Given the description of an element on the screen output the (x, y) to click on. 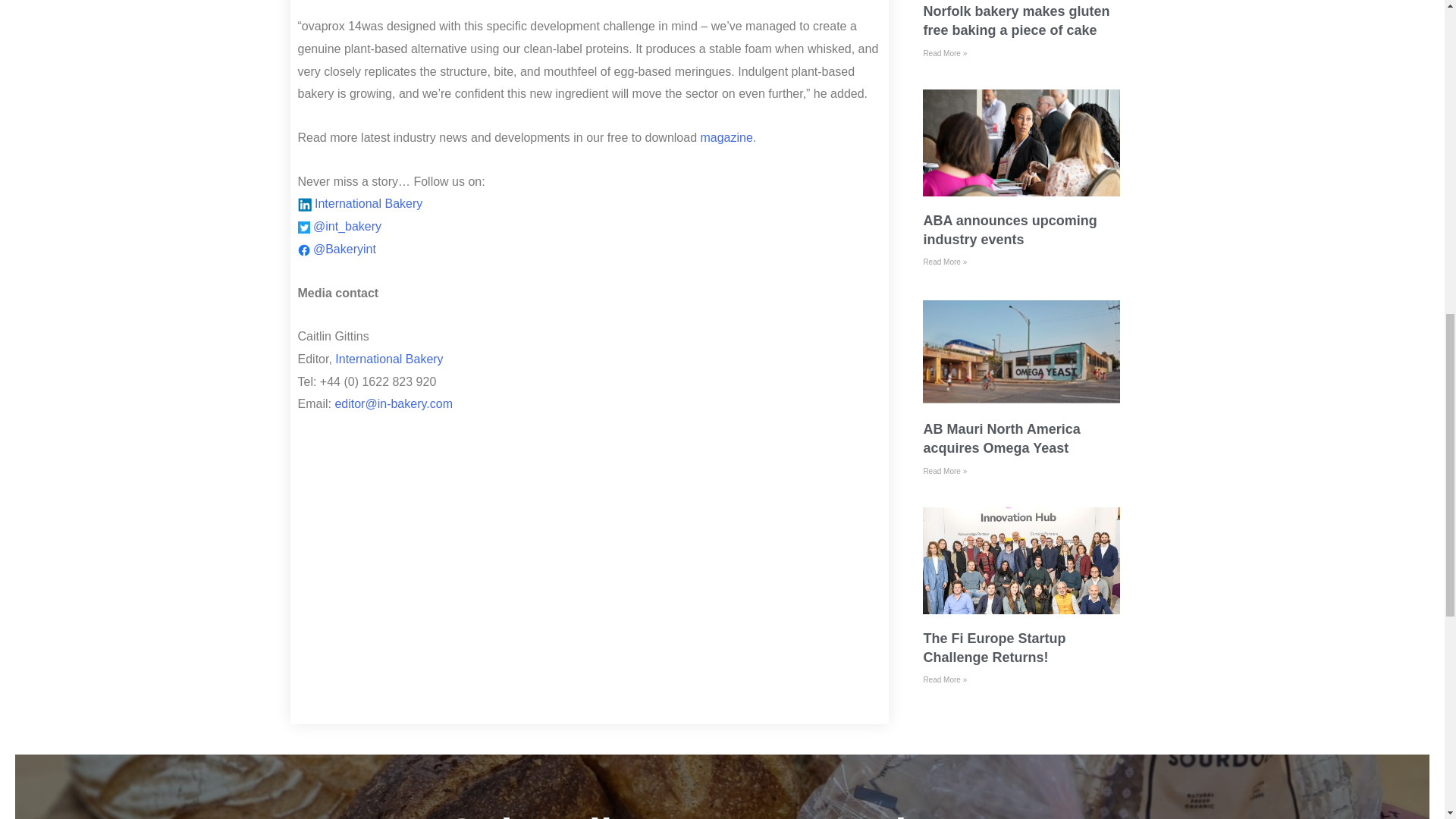
magazine (726, 137)
International Bakery (368, 203)
International Bakery (388, 358)
